Given the description of an element on the screen output the (x, y) to click on. 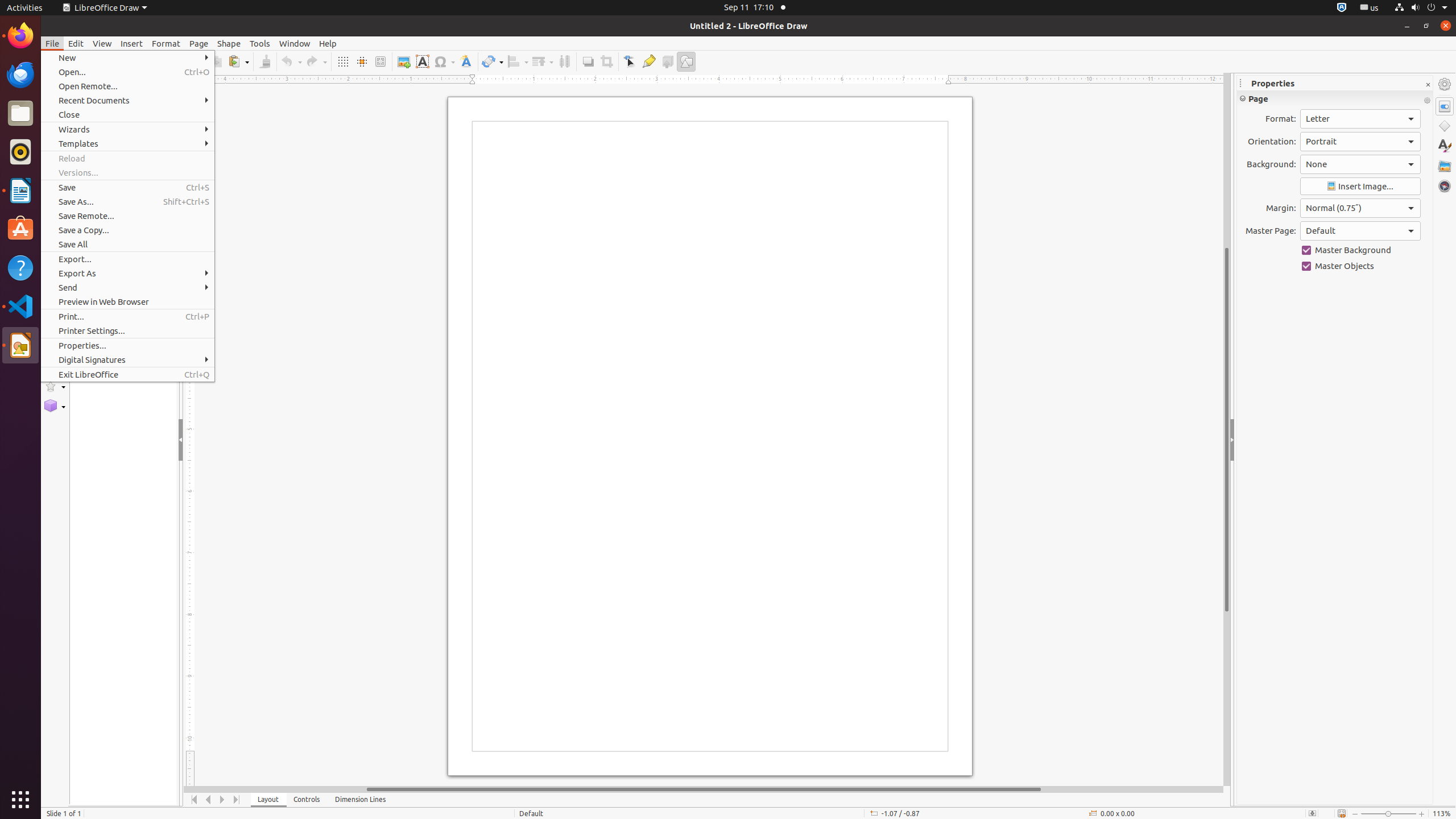
Paste Element type: push-button (237, 61)
Lines and Arrows Element type: push-button (54, 222)
Move Right Element type: push-button (222, 799)
Recent Documents Element type: menu (127, 100)
Save All Element type: menu-item (127, 244)
